Given the description of an element on the screen output the (x, y) to click on. 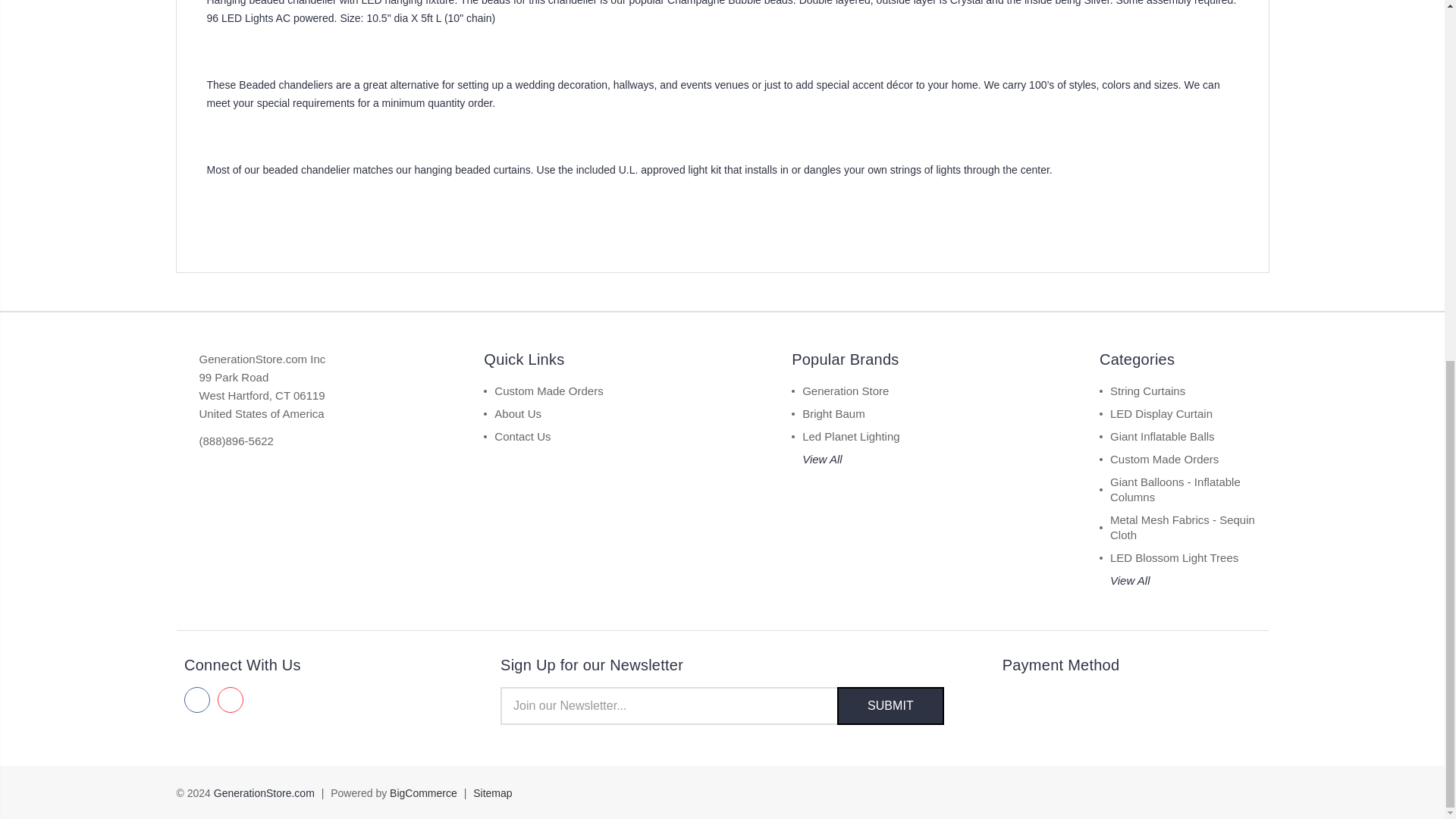
submit (890, 705)
